Given the description of an element on the screen output the (x, y) to click on. 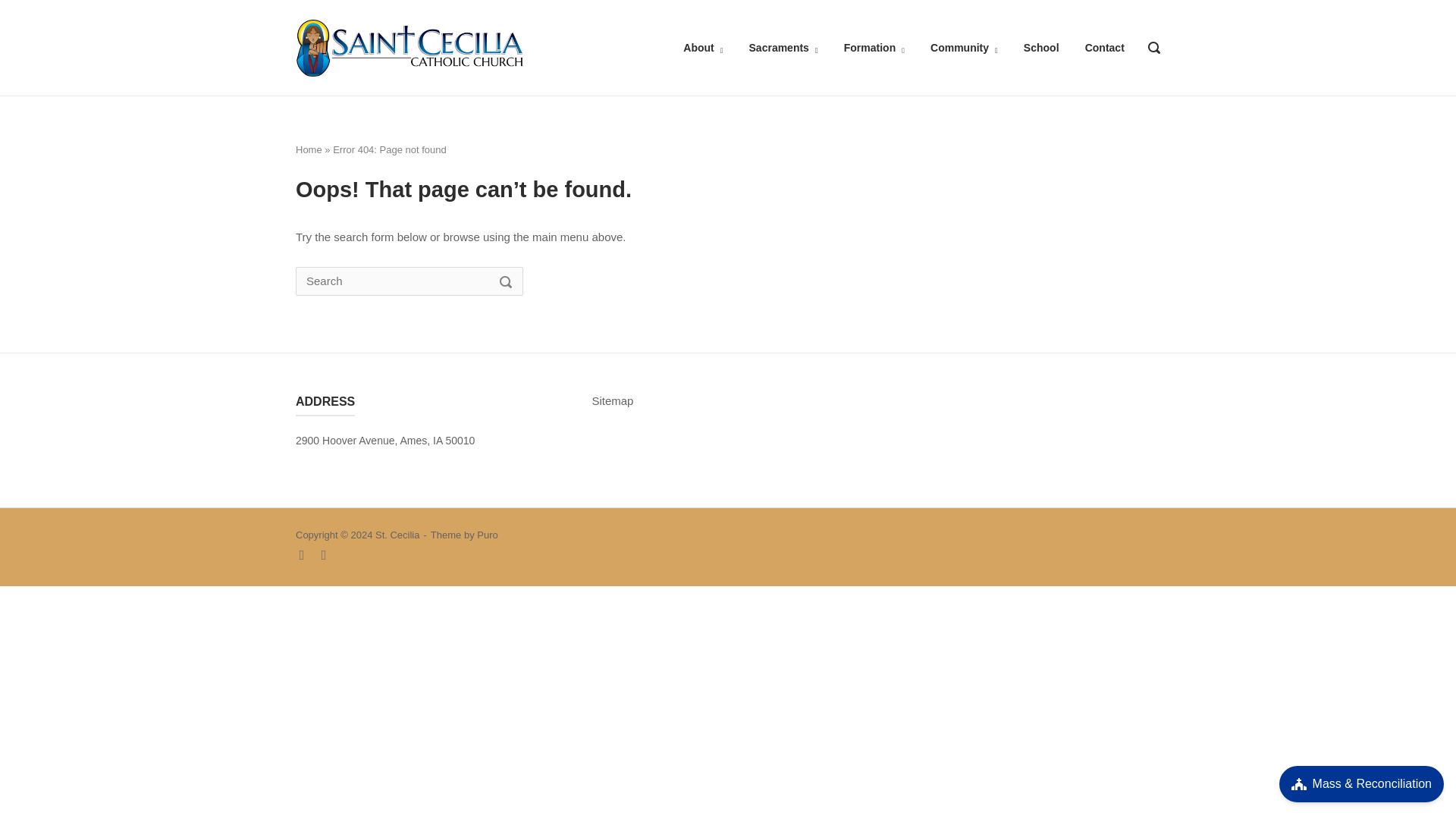
About (702, 47)
Community (963, 47)
Home (408, 46)
Formation (874, 47)
Sacraments (783, 47)
